Given the description of an element on the screen output the (x, y) to click on. 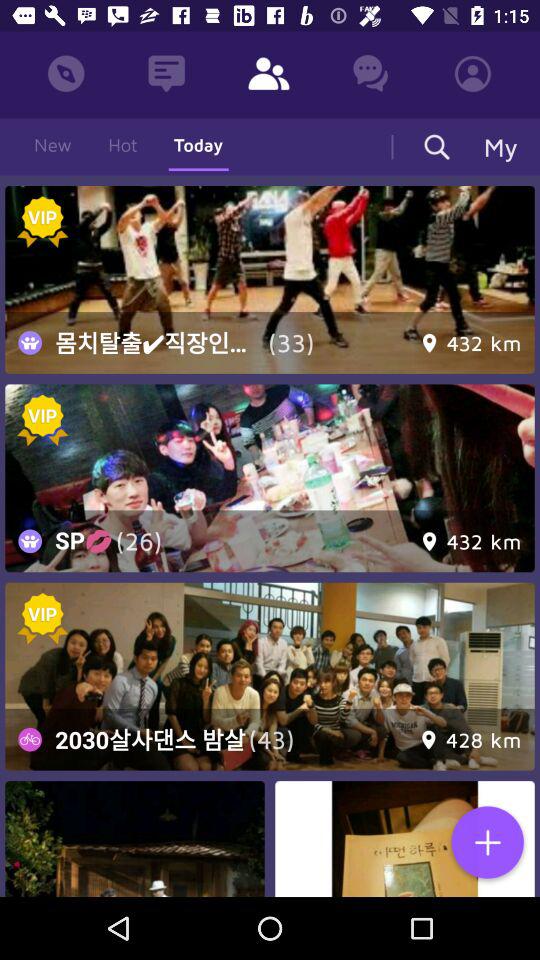
for addvertisement (269, 279)
